Given the description of an element on the screen output the (x, y) to click on. 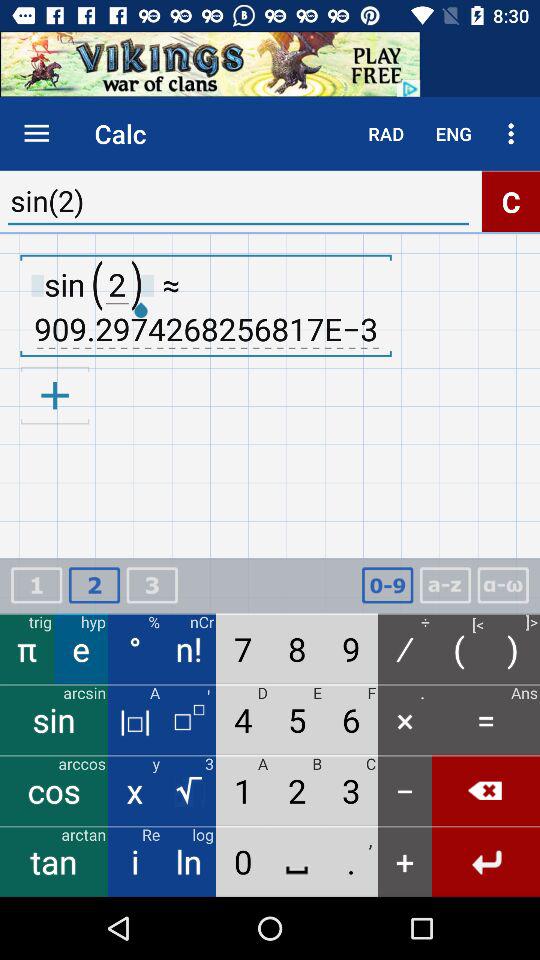
go to calculater (94, 585)
